Given the description of an element on the screen output the (x, y) to click on. 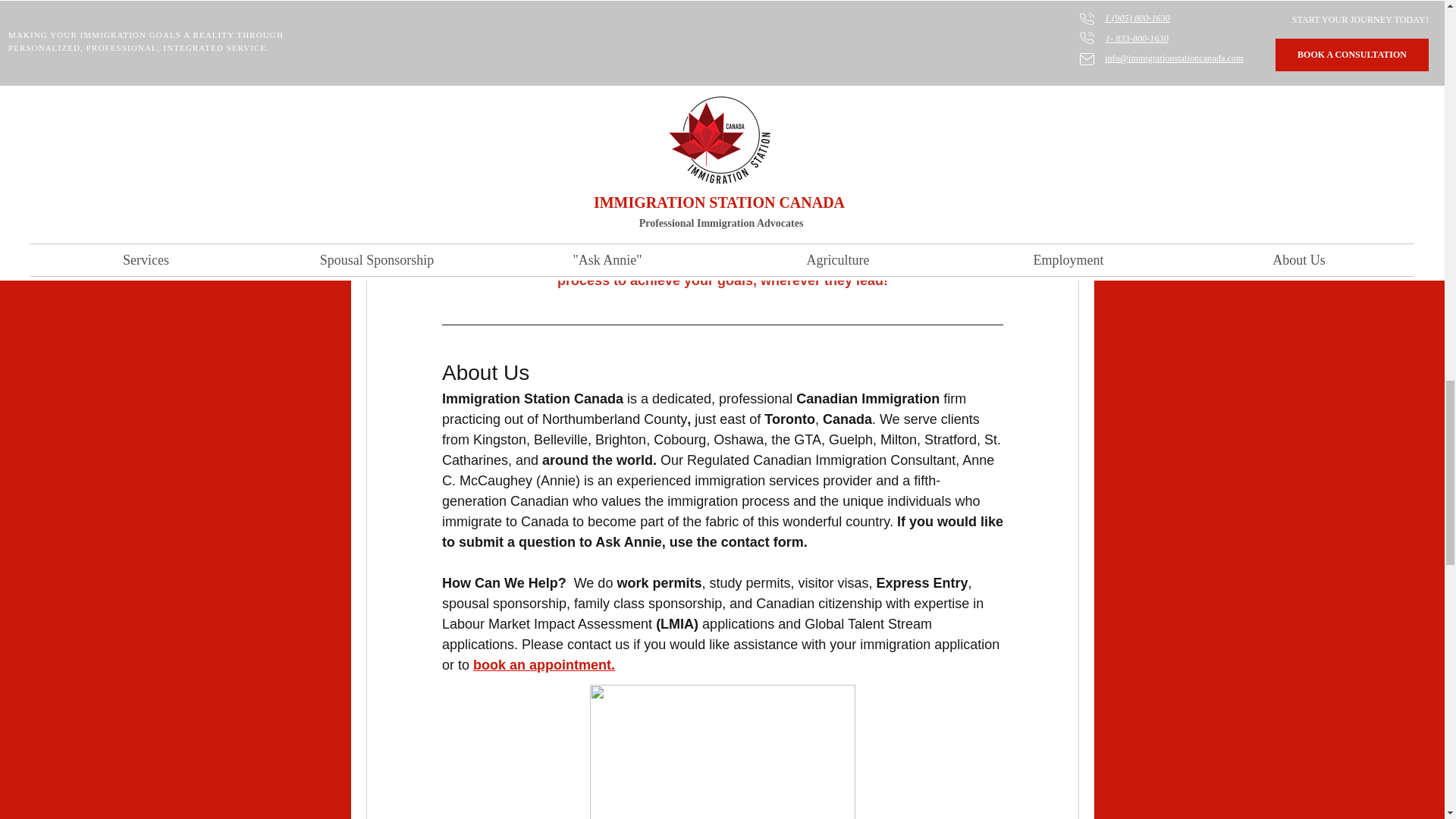
Immigration Station Canada (868, 198)
book an appointment. (543, 664)
